Given the description of an element on the screen output the (x, y) to click on. 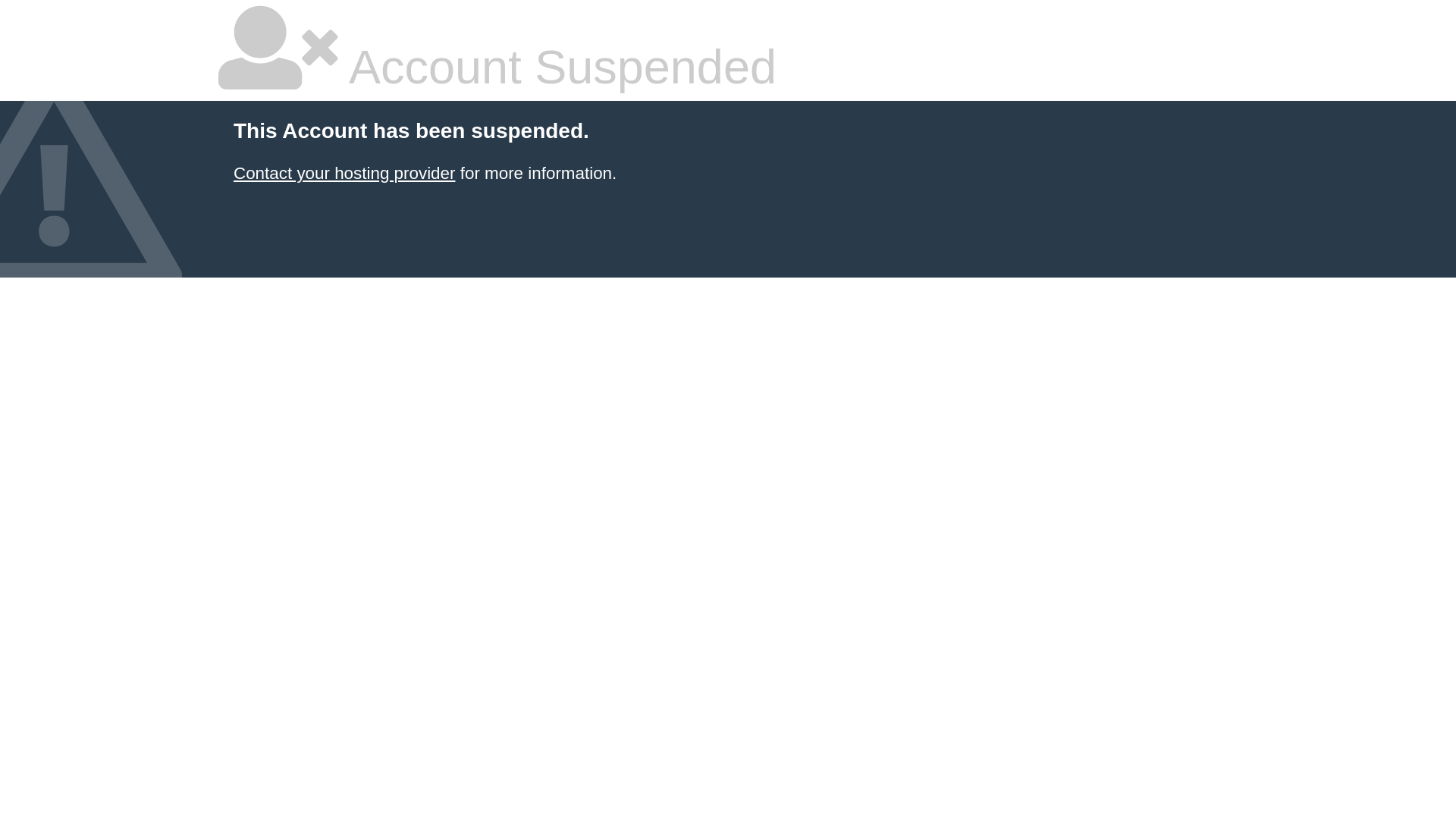
Contact your hosting provider Element type: text (344, 172)
